Given the description of an element on the screen output the (x, y) to click on. 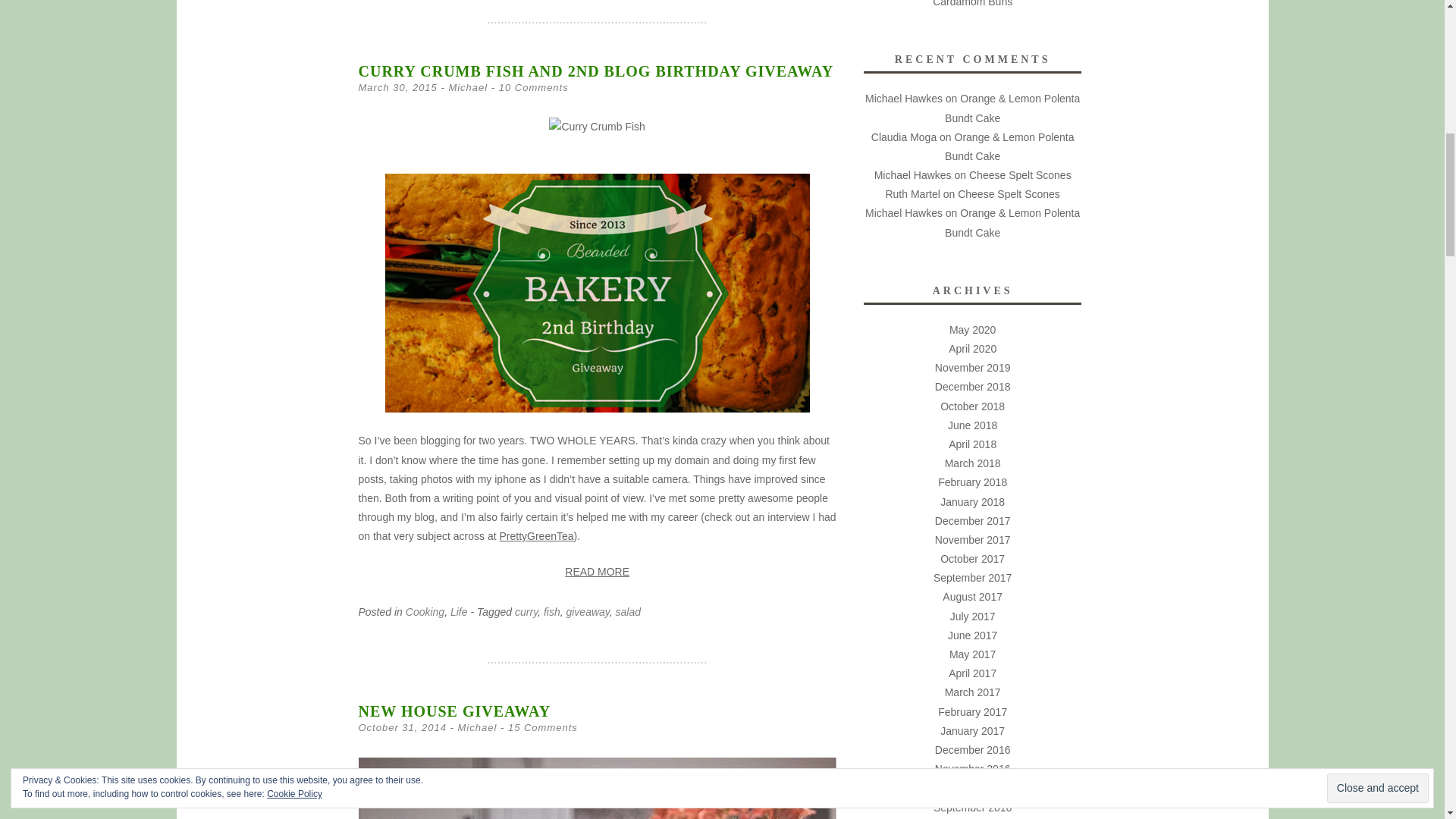
March 30, 2015 (397, 87)
Michael (467, 87)
PrettyGreenTea (536, 535)
CURRY CRUMB FISH AND 2ND BLOG BIRTHDAY GIVEAWAY (595, 71)
10 Comments (534, 87)
Career Inspiration - Pretty Green Tea (536, 535)
